Given the description of an element on the screen output the (x, y) to click on. 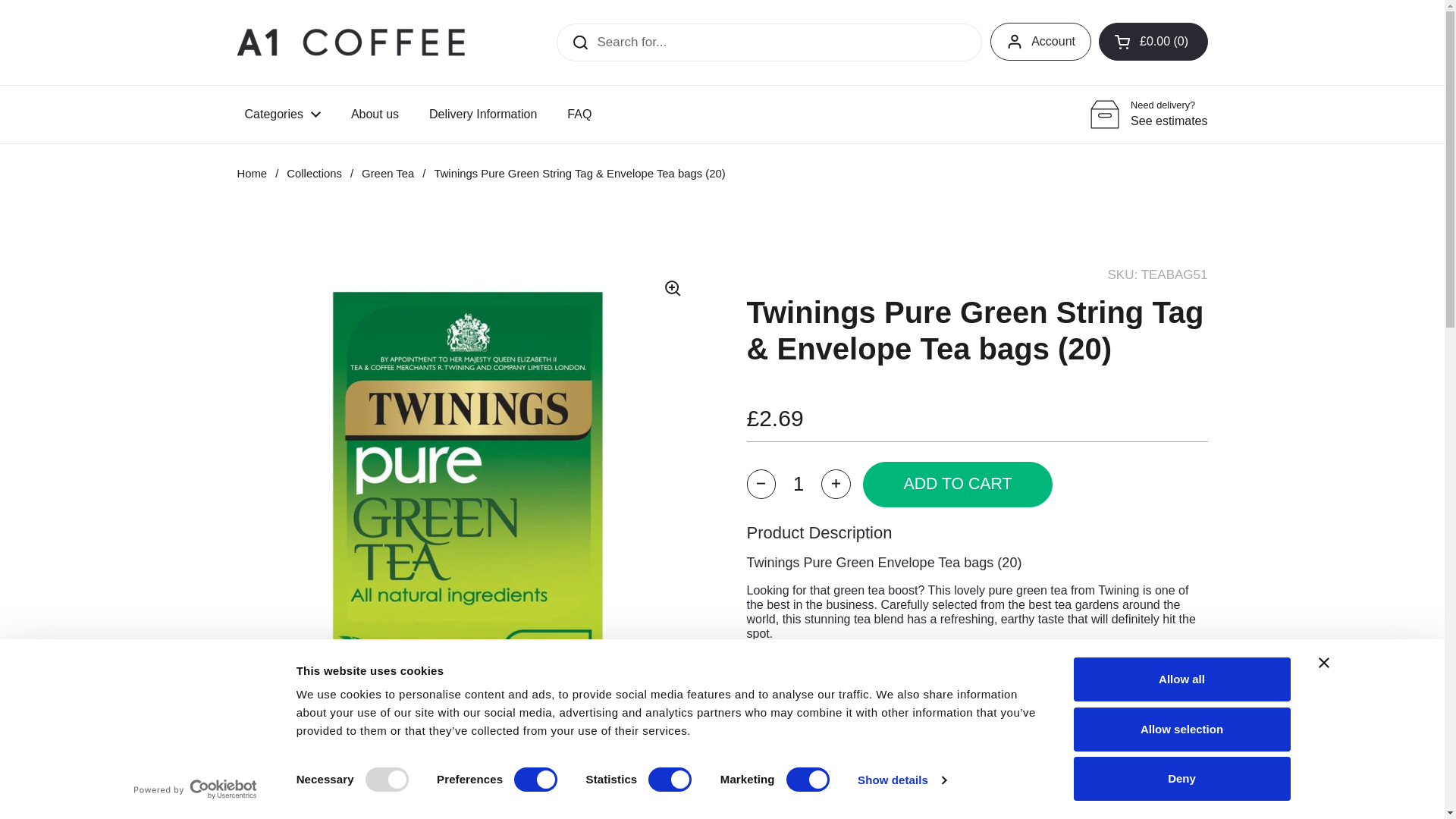
Show details (900, 780)
1 (798, 483)
A1 Coffee (349, 41)
Open cart (1153, 41)
